Given the description of an element on the screen output the (x, y) to click on. 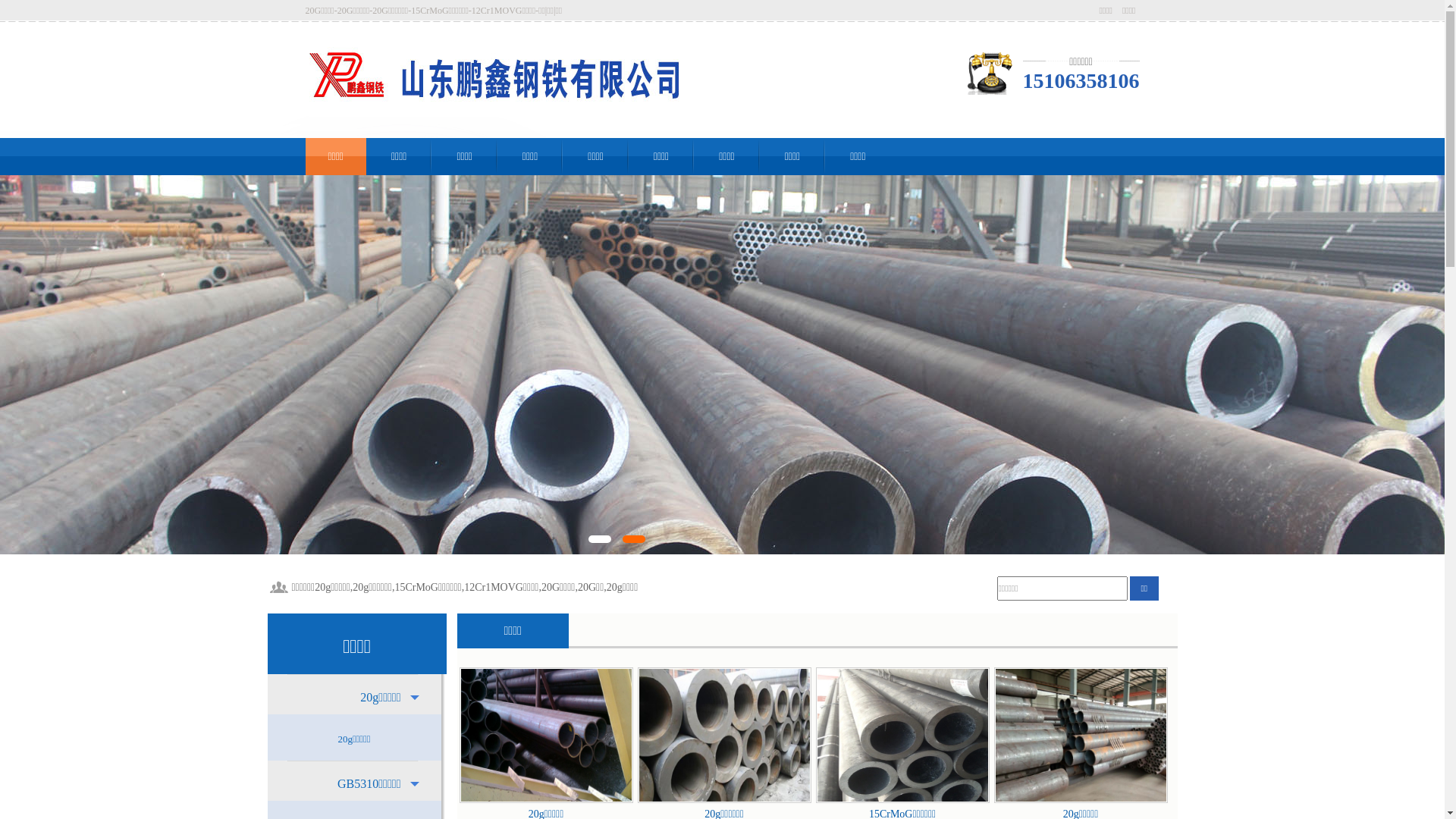
2 Element type: text (633, 538)
1 Element type: text (599, 538)
